Given the description of an element on the screen output the (x, y) to click on. 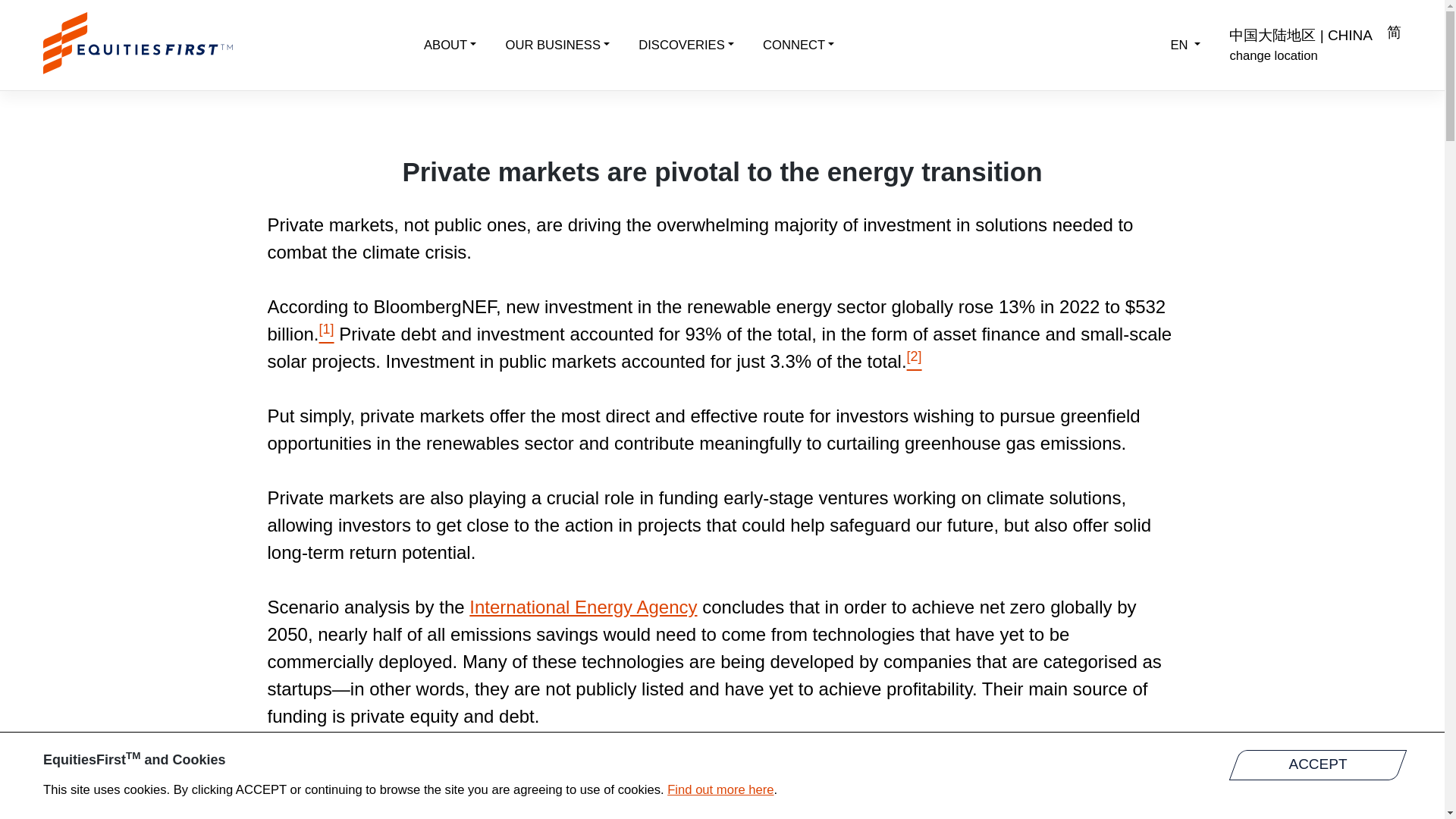
Our Business (557, 45)
DISCOVERIES (686, 45)
About (449, 45)
CONNECT (798, 45)
OUR BUSINESS (557, 45)
Connect (798, 45)
ABOUT (449, 45)
DISCOVERIES (686, 45)
International Energy Agency (582, 606)
EN (1185, 45)
